Given the description of an element on the screen output the (x, y) to click on. 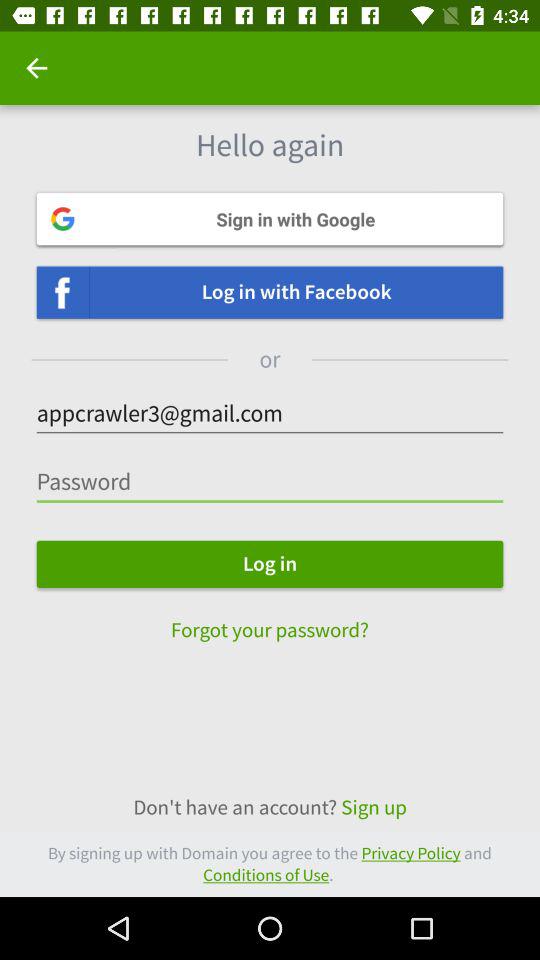
go to the text which is just above the password field (270, 414)
click on log in (270, 564)
click on log in with facebook option (270, 292)
click on sign in with google (270, 219)
select the text sign in with google (270, 219)
select the text which is below or (270, 414)
click on the text forgot your password (269, 620)
